Given the description of an element on the screen output the (x, y) to click on. 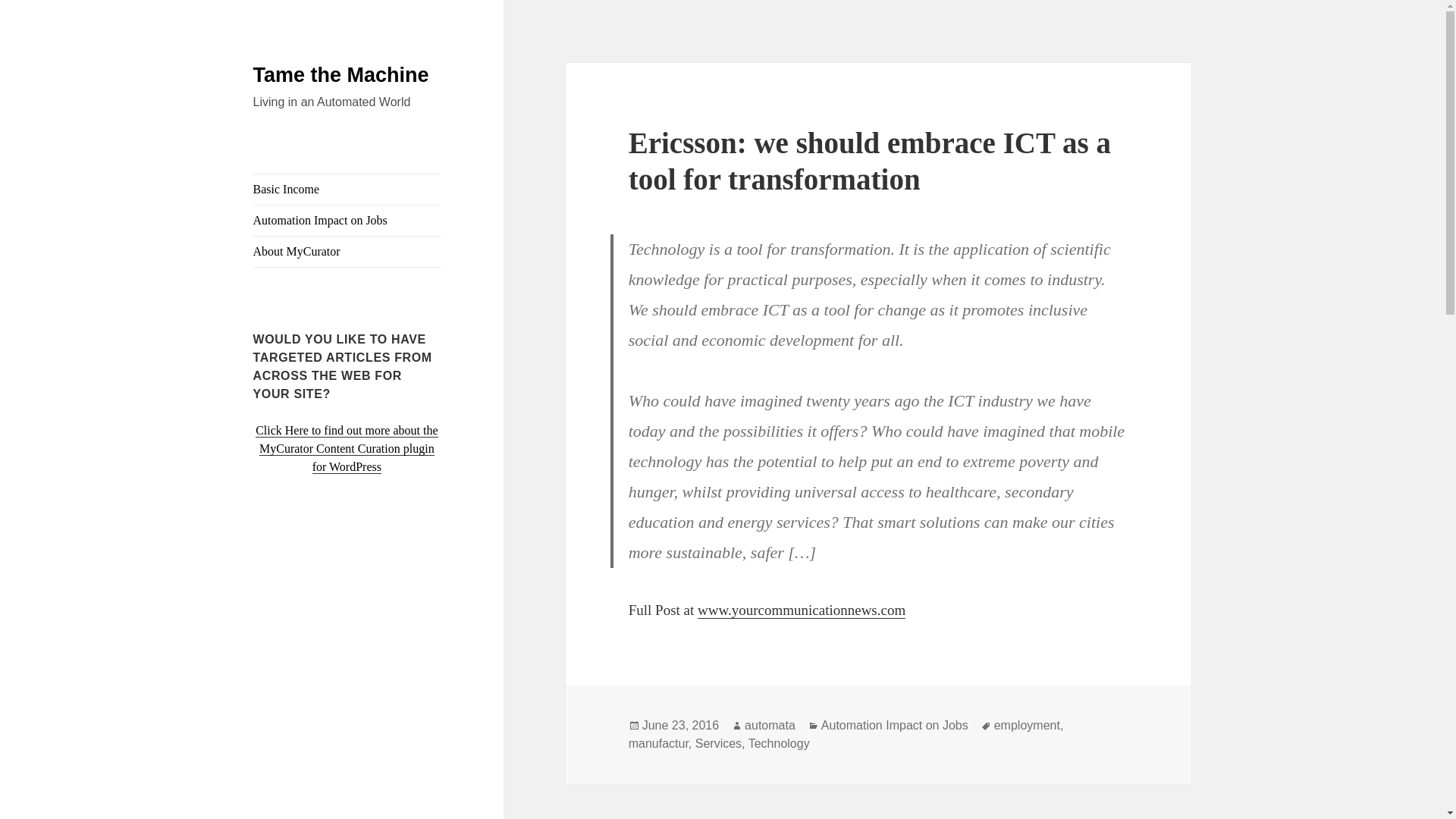
Services (718, 744)
automata (769, 725)
Technology (778, 744)
Tame the Machine (341, 74)
About MyCurator (347, 251)
Automation Impact on Jobs (894, 725)
Automation Impact on Jobs (347, 220)
Basic Income (347, 189)
employment (1026, 725)
